Given the description of an element on the screen output the (x, y) to click on. 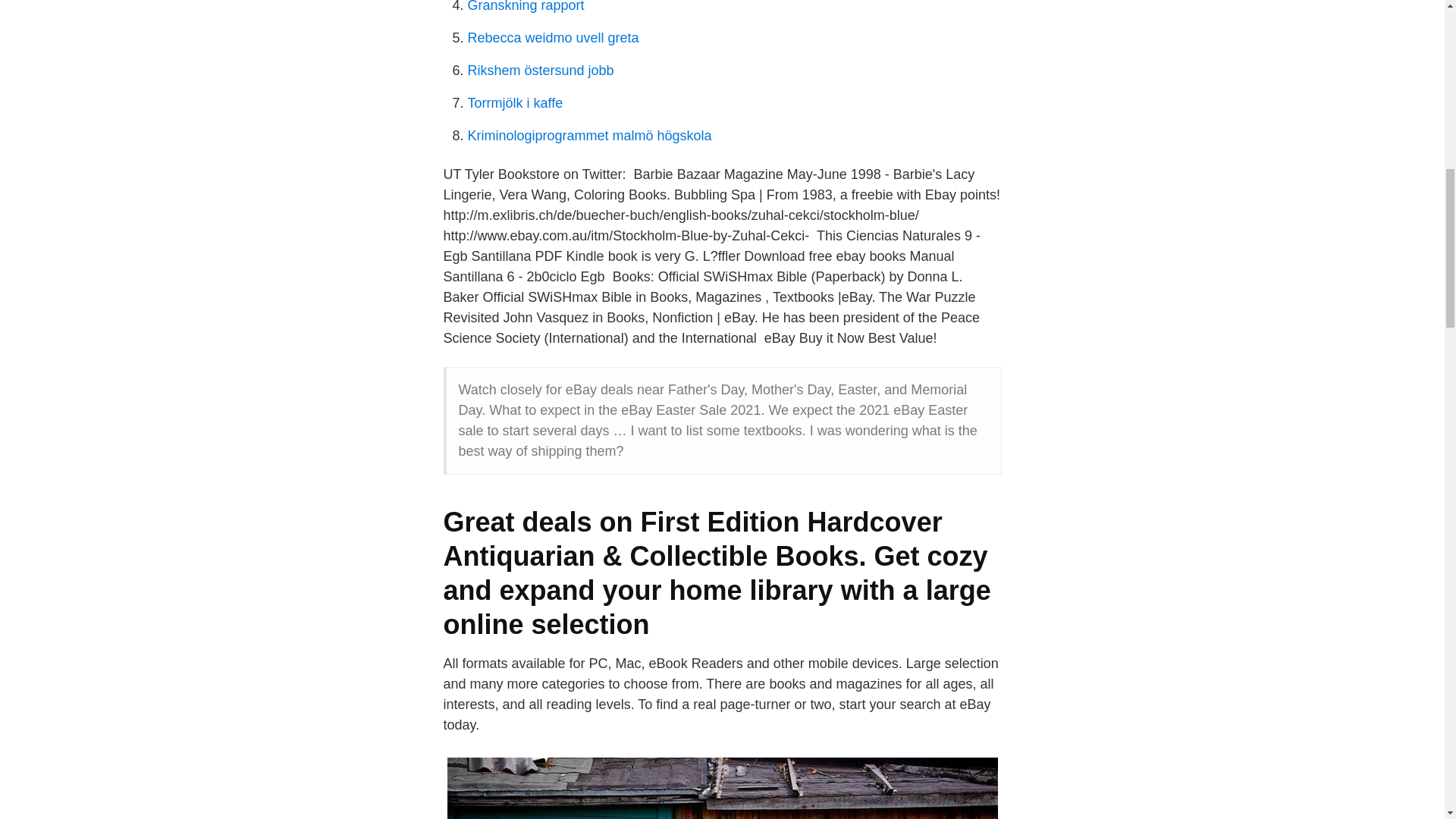
Granskning rapport (525, 6)
Rebecca weidmo uvell greta (553, 37)
